Given the description of an element on the screen output the (x, y) to click on. 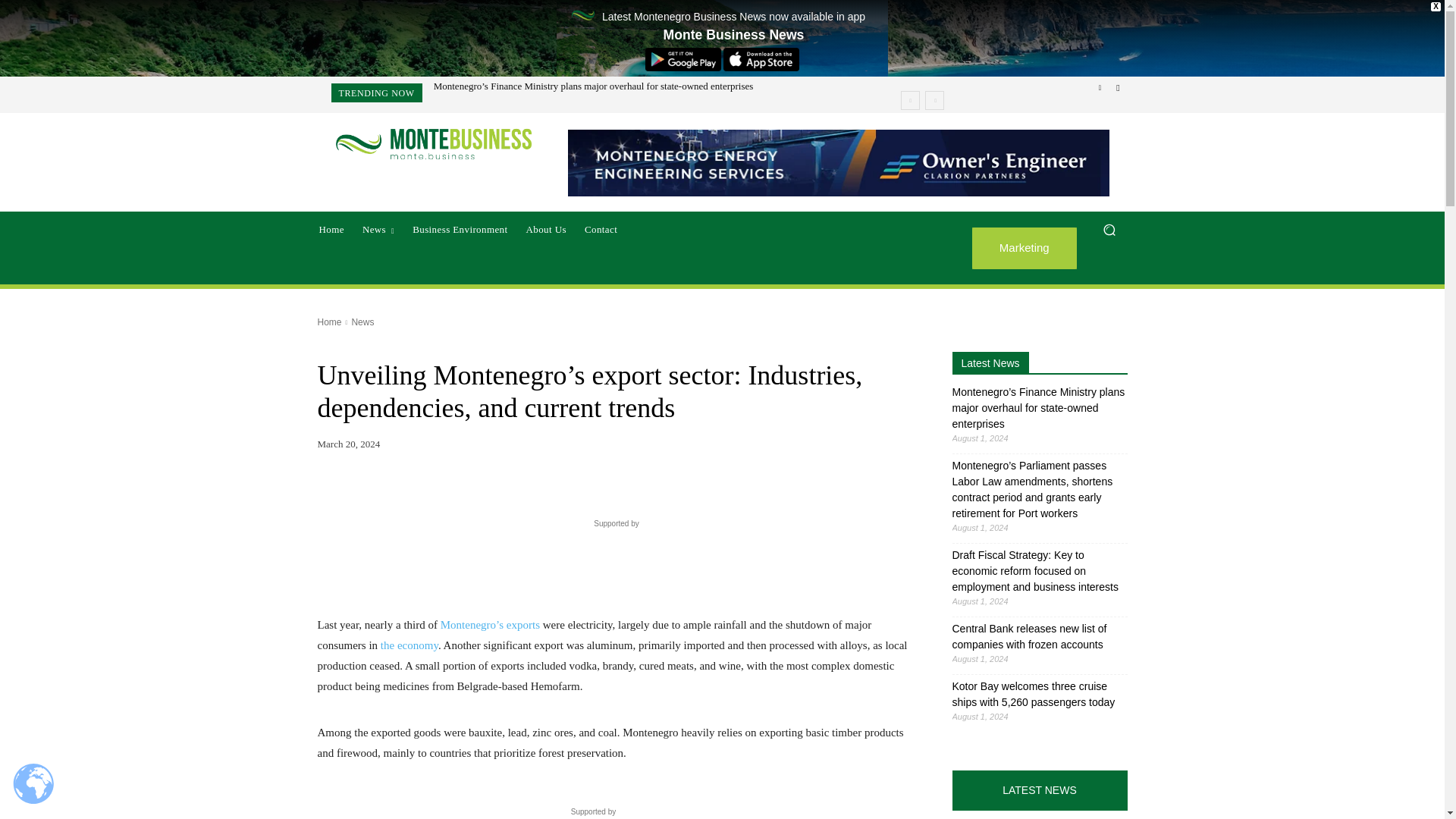
Business Environment (459, 229)
Home (330, 229)
Marketing (1024, 248)
Twitter (1117, 87)
Linkedin (1099, 87)
Marketing (1024, 248)
News (378, 229)
About Us (545, 229)
Contact (600, 229)
